Given the description of an element on the screen output the (x, y) to click on. 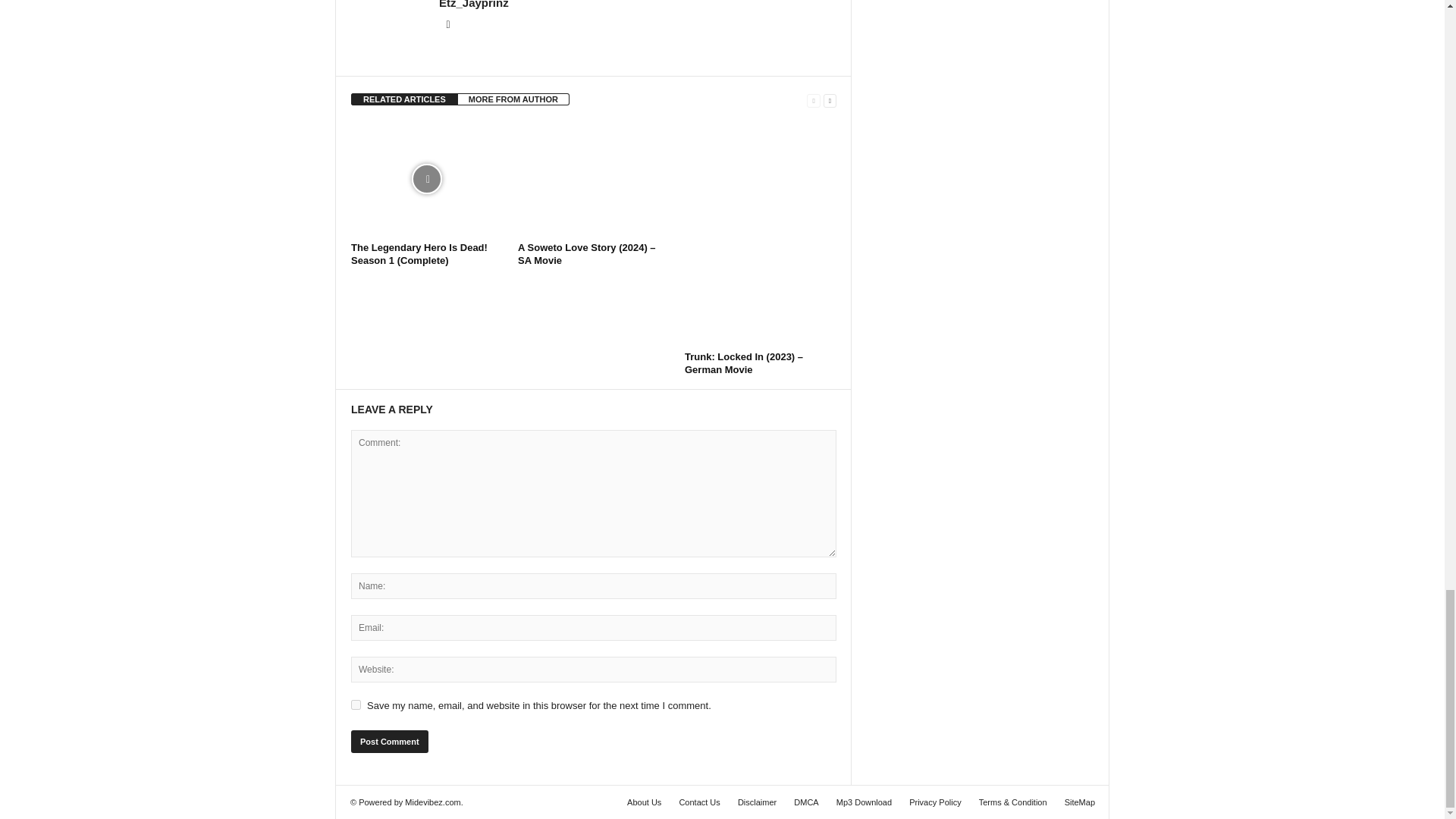
yes (355, 705)
Post Comment (389, 741)
